Given the description of an element on the screen output the (x, y) to click on. 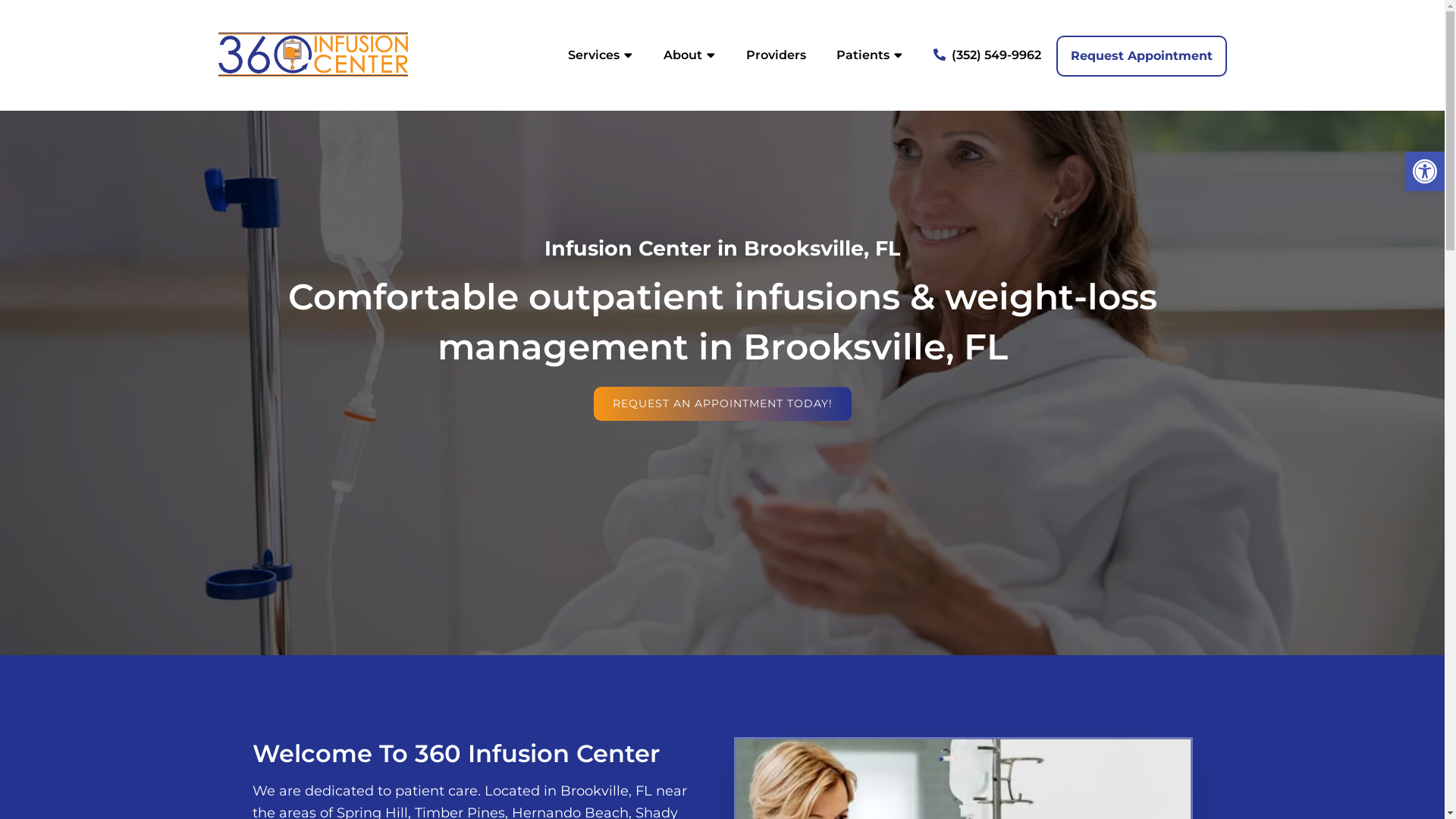
Patients Element type: text (868, 55)
REQUEST AN APPOINTMENT TODAY! Element type: text (721, 403)
Open toolbar
Accessibility Tools Element type: text (1424, 171)
Services Element type: text (599, 55)
Providers Element type: text (776, 55)
About Element type: text (688, 55)
(352) 549-9962 Element type: text (986, 55)
Request Appointment Element type: text (1140, 55)
